Given the description of an element on the screen output the (x, y) to click on. 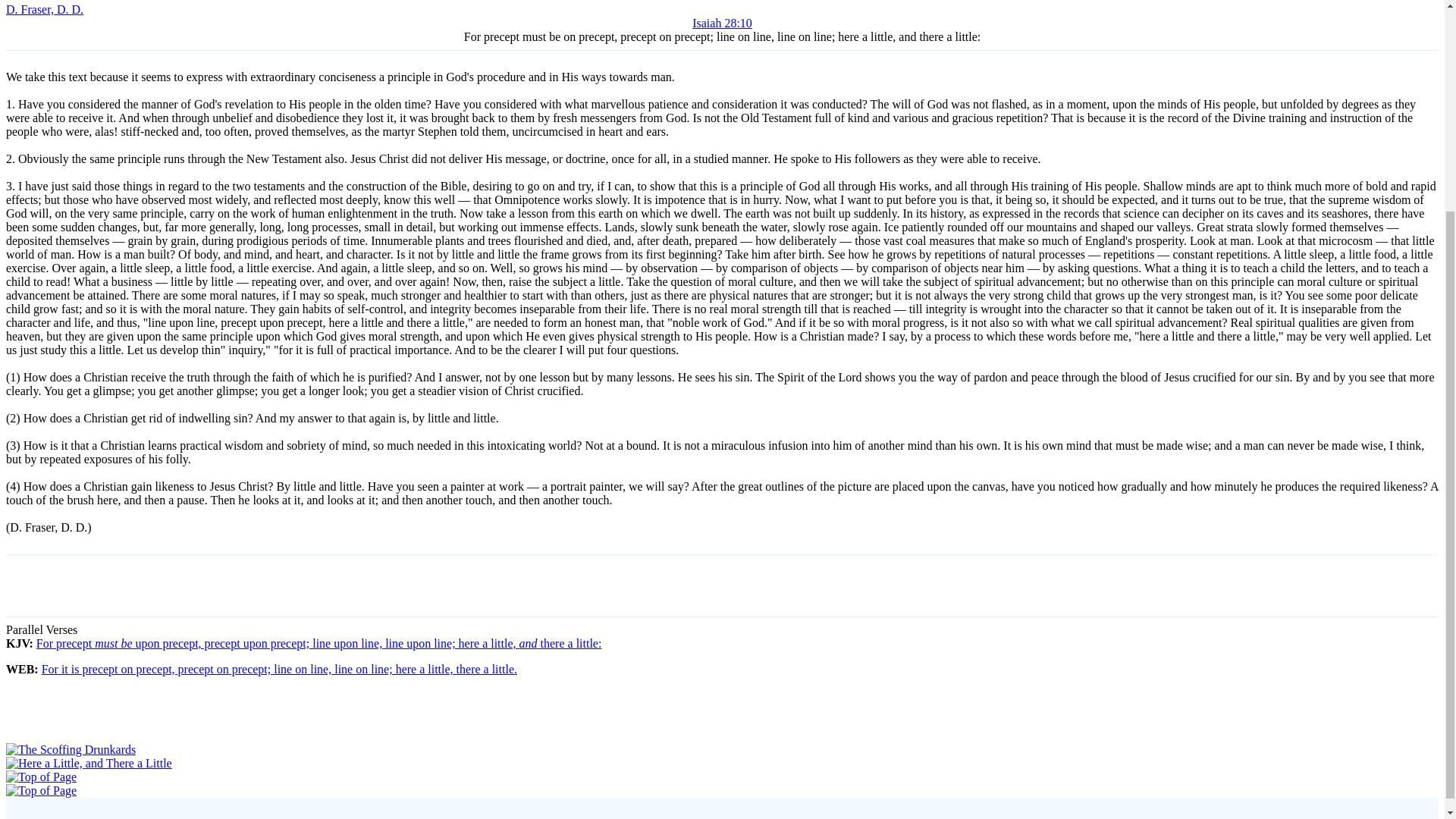
D. Fraser, D. D. (43, 9)
Here a Little, and There a Little (88, 762)
The Scoffing Drunkards (70, 748)
Top of Page (41, 776)
Isaiah 28:10 (722, 22)
Top of Page (41, 789)
